Given the description of an element on the screen output the (x, y) to click on. 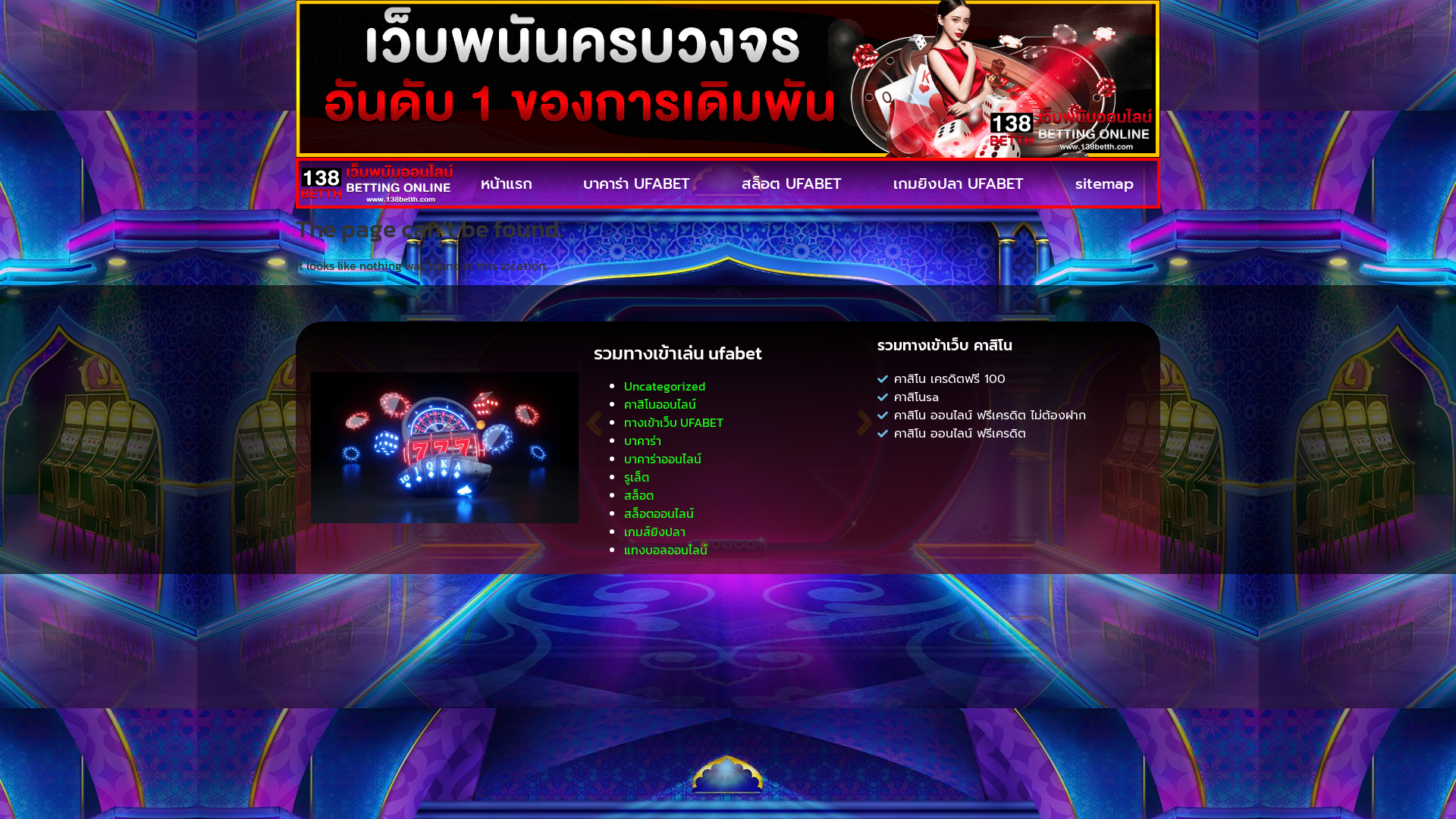
sitemap Element type: text (1103, 183)
Uncategorized Element type: text (664, 385)
